Given the description of an element on the screen output the (x, y) to click on. 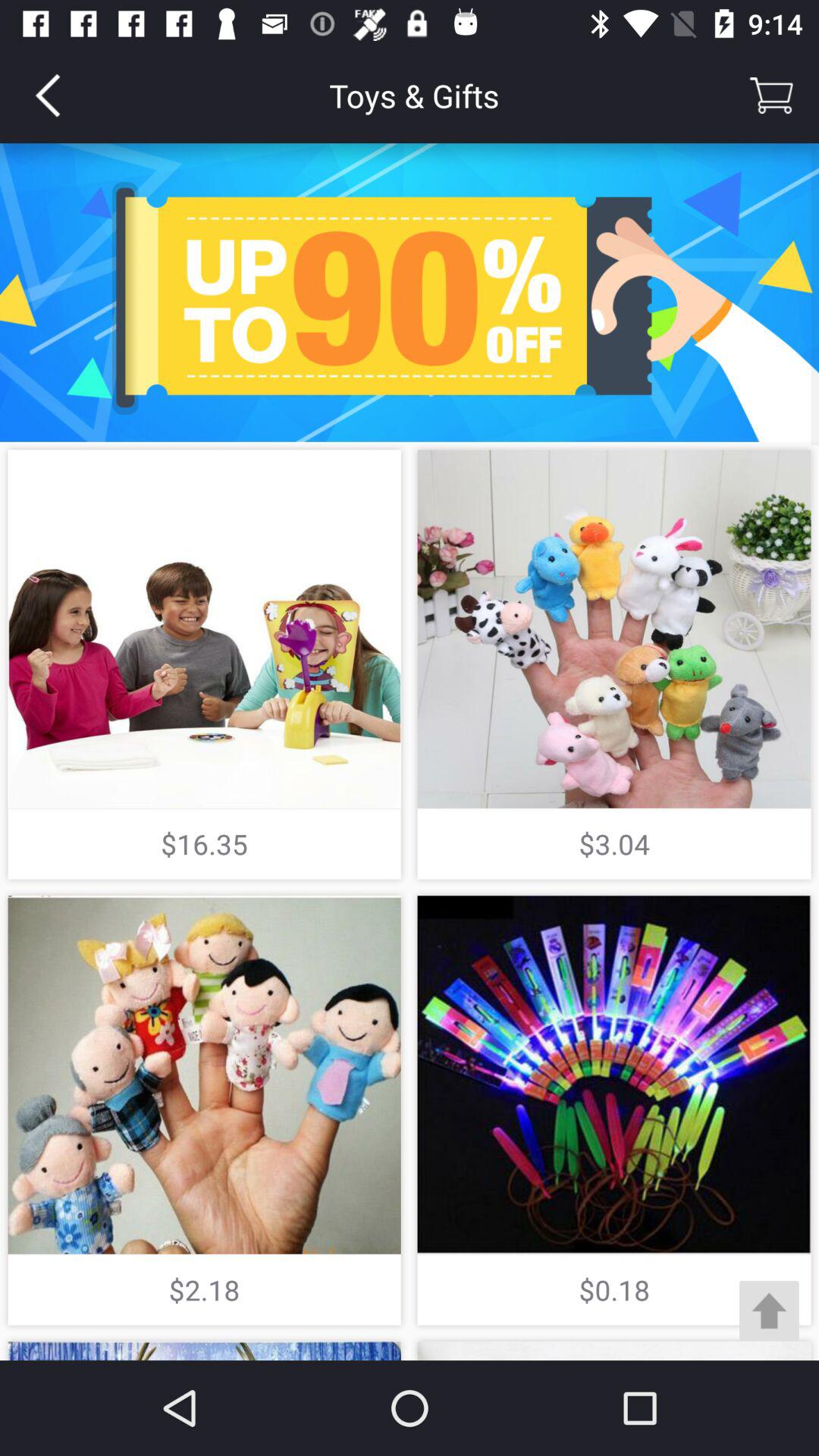
scroll to top (769, 1310)
